Given the description of an element on the screen output the (x, y) to click on. 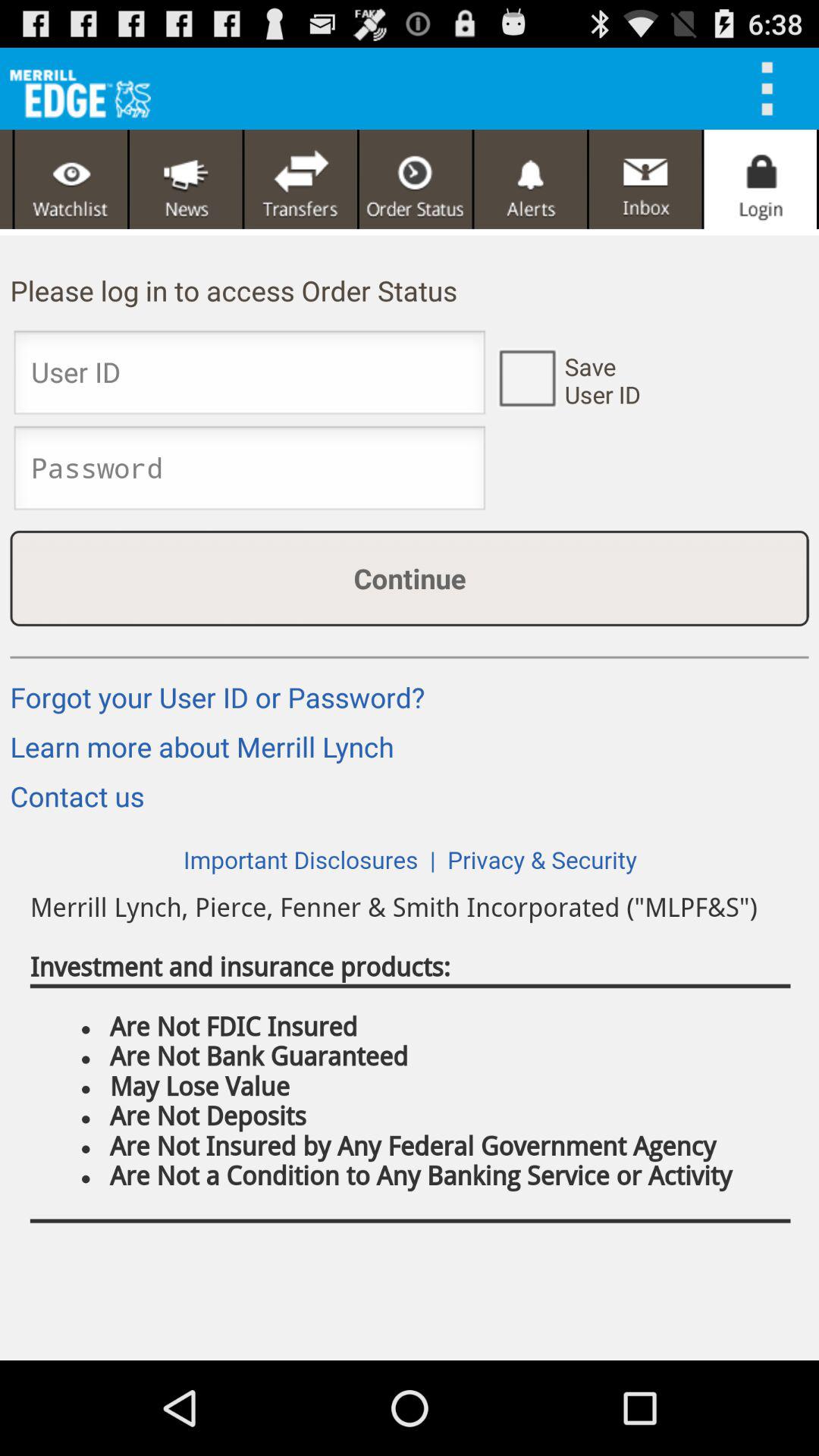
this button is used to inbox (645, 179)
